Given the description of an element on the screen output the (x, y) to click on. 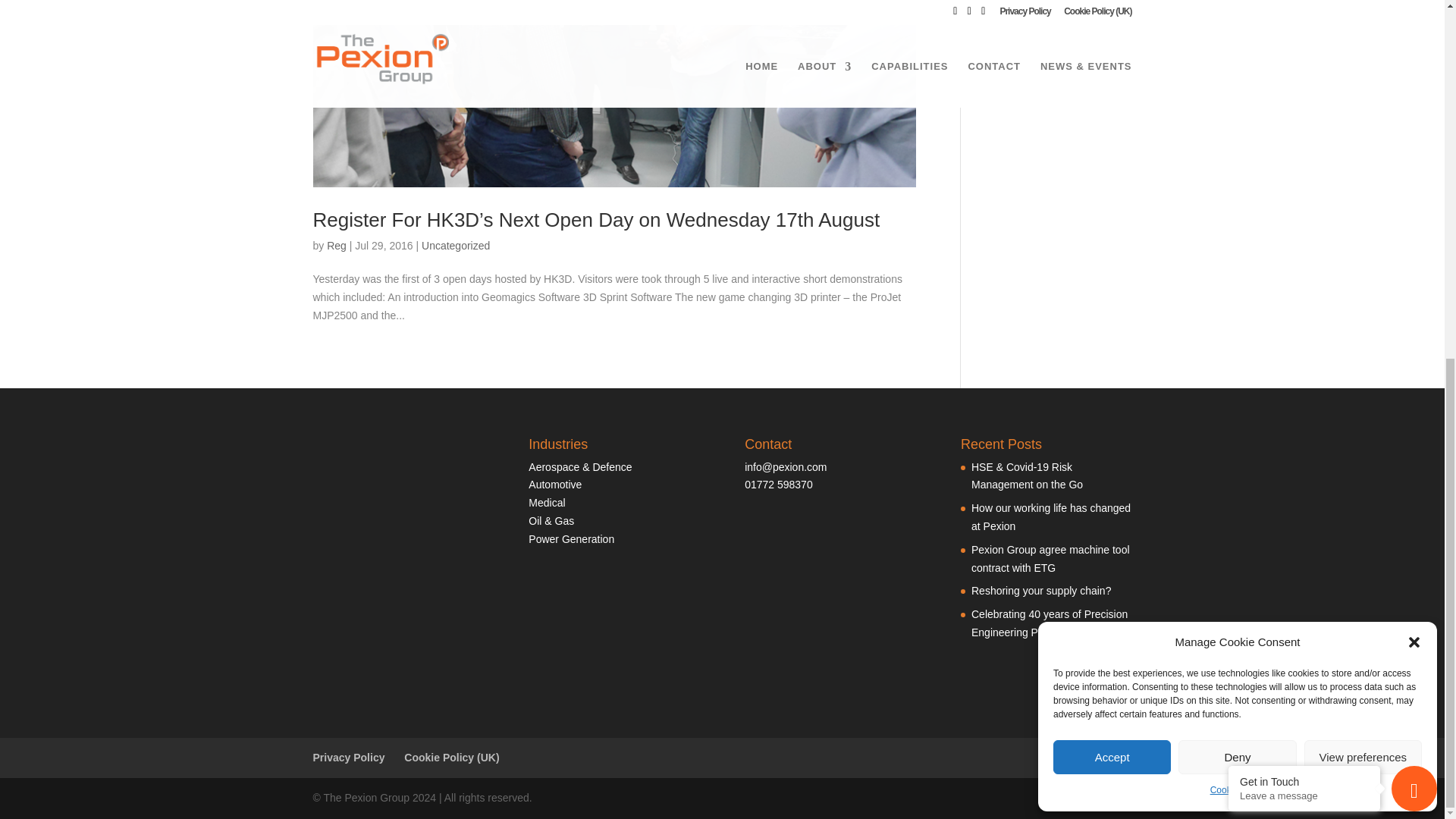
Cookie Policy (1237, 158)
Accept (1111, 124)
Leave a message (1304, 163)
Get in Touch (1304, 149)
View preferences (1363, 124)
Deny (1236, 124)
Posts by Reg (336, 245)
